Given the description of an element on the screen output the (x, y) to click on. 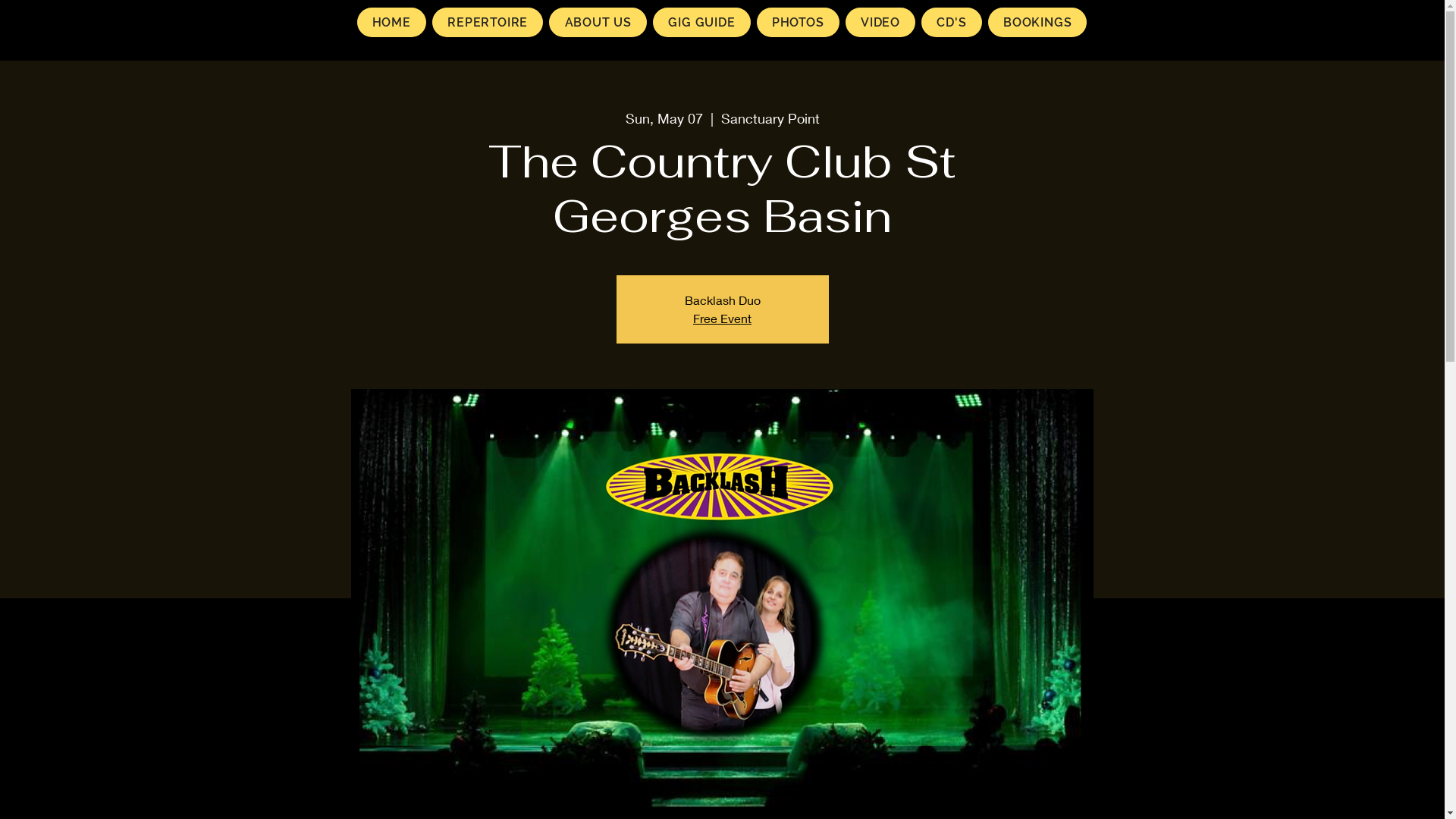
GIG GUIDE Element type: text (701, 22)
ABOUT US Element type: text (597, 22)
Free Event Element type: text (722, 317)
PHOTOS Element type: text (797, 22)
VIDEO Element type: text (880, 22)
BOOKINGS Element type: text (1037, 22)
CD'S Element type: text (951, 22)
REPERTOIRE Element type: text (487, 22)
HOME Element type: text (391, 22)
